Given the description of an element on the screen output the (x, y) to click on. 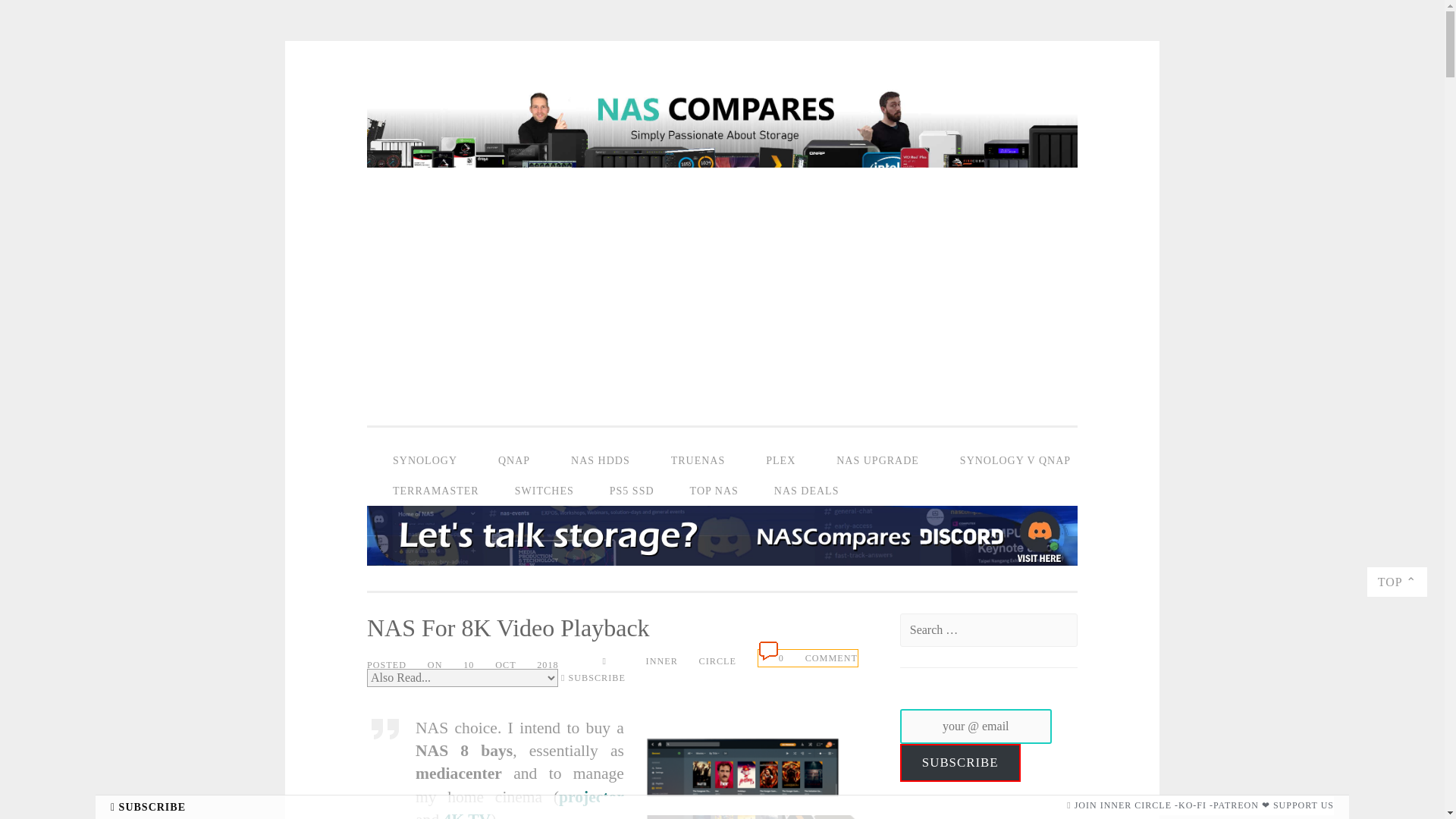
PLEX (780, 460)
TERRAMASTER (435, 490)
Go to top (1397, 581)
QNAP (514, 460)
SYNOLOGY V QNAP (1015, 460)
NAS Compares (721, 171)
SYNOLOGY (424, 460)
NAS UPGRADE (877, 460)
